Given the description of an element on the screen output the (x, y) to click on. 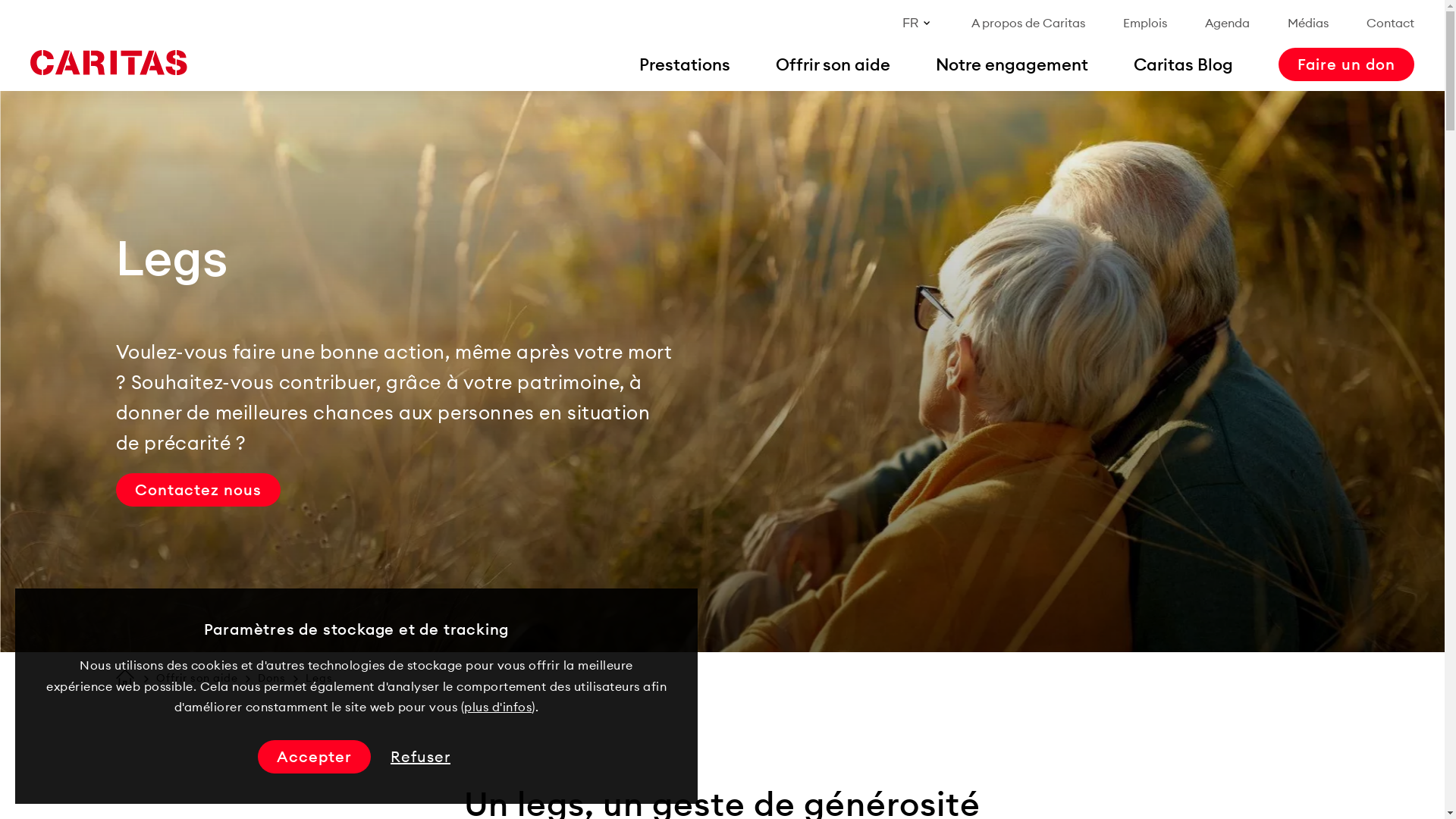
Faire un don Element type: text (1346, 64)
Emplois Element type: text (1145, 22)
Contact Element type: text (1390, 22)
Page d'accueil Element type: text (108, 62)
Prestations Element type: text (684, 64)
Accepter Element type: text (313, 756)
Caritas Blog Element type: text (1183, 64)
Page d'accueil Element type: text (124, 677)
Open sub menu Element type: text (18, 18)
Dons Element type: text (271, 678)
plus d'infos Element type: text (497, 706)
Notre engagement Element type: text (1011, 64)
Agenda Element type: text (1226, 22)
Offrir son aide Element type: text (832, 64)
Offrir son aide Element type: text (197, 678)
A propos de Caritas Element type: text (1028, 22)
Refuser Element type: text (420, 756)
Contactez nous Element type: text (197, 489)
